Given the description of an element on the screen output the (x, y) to click on. 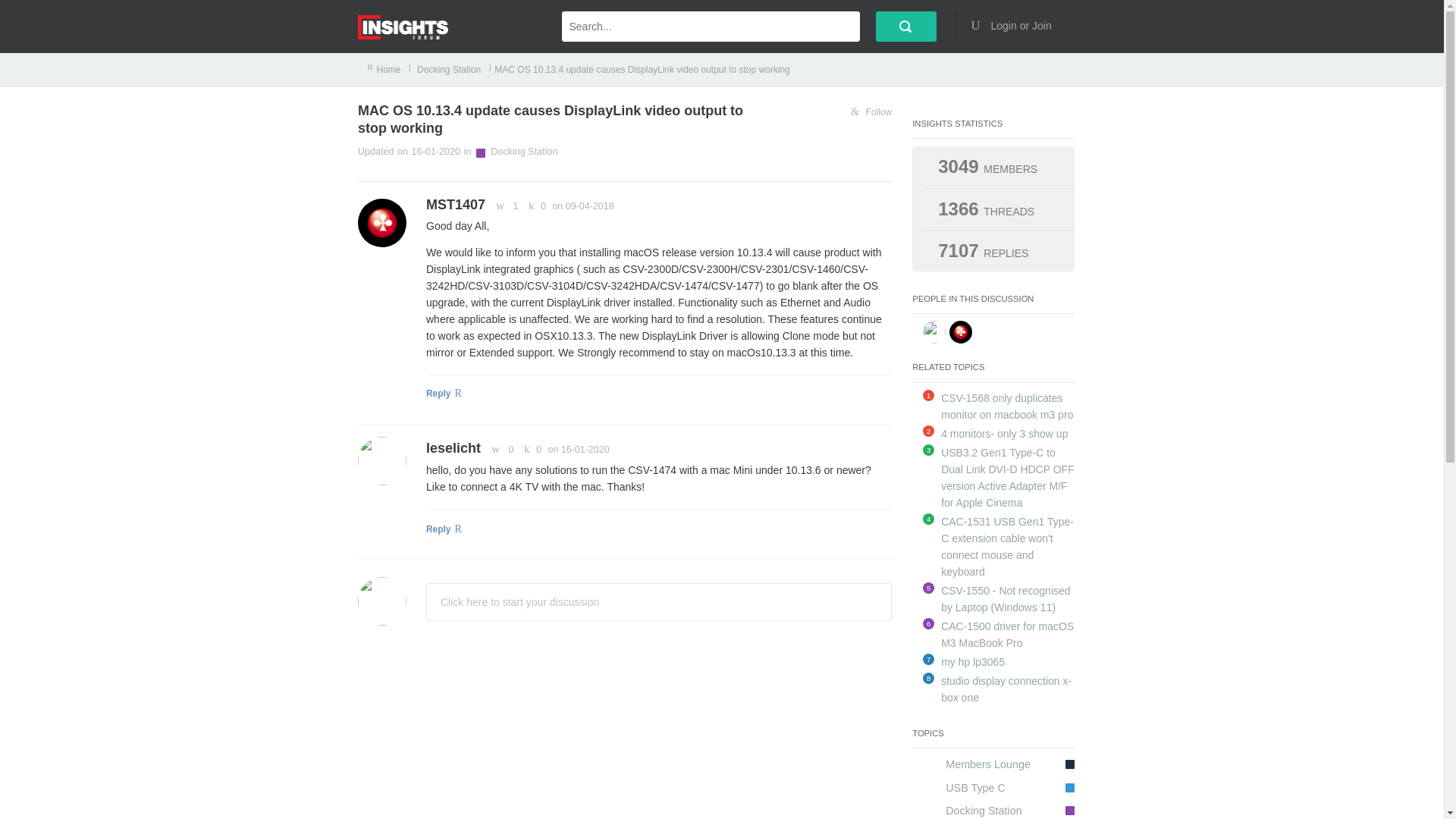
MST1407 (455, 204)
Reply (658, 531)
0 (499, 449)
4 monitors- only 3 show up (1003, 433)
Home (389, 69)
0 (534, 205)
0 (529, 449)
Follow (870, 112)
Login or Join (1016, 26)
Click here to start your discussion (658, 601)
Reply (658, 395)
CSV-1568 only duplicates monitor on macbook m3 pro (1006, 406)
Docking Station (447, 69)
Docking Station (523, 151)
